Given the description of an element on the screen output the (x, y) to click on. 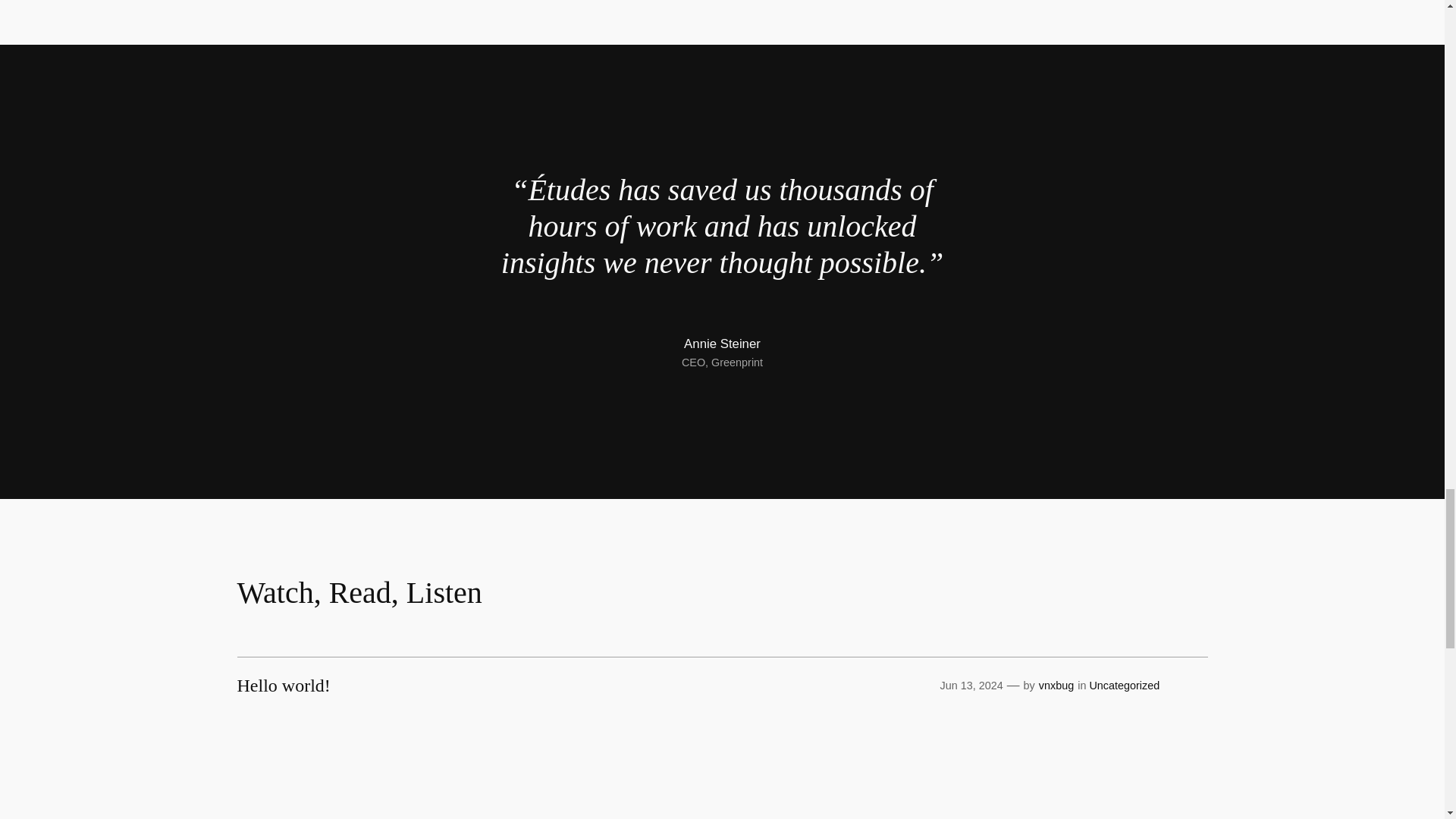
Jun 13, 2024 (971, 685)
Hello world! (282, 685)
Uncategorized (1123, 685)
vnxbug (1056, 685)
